Given the description of an element on the screen output the (x, y) to click on. 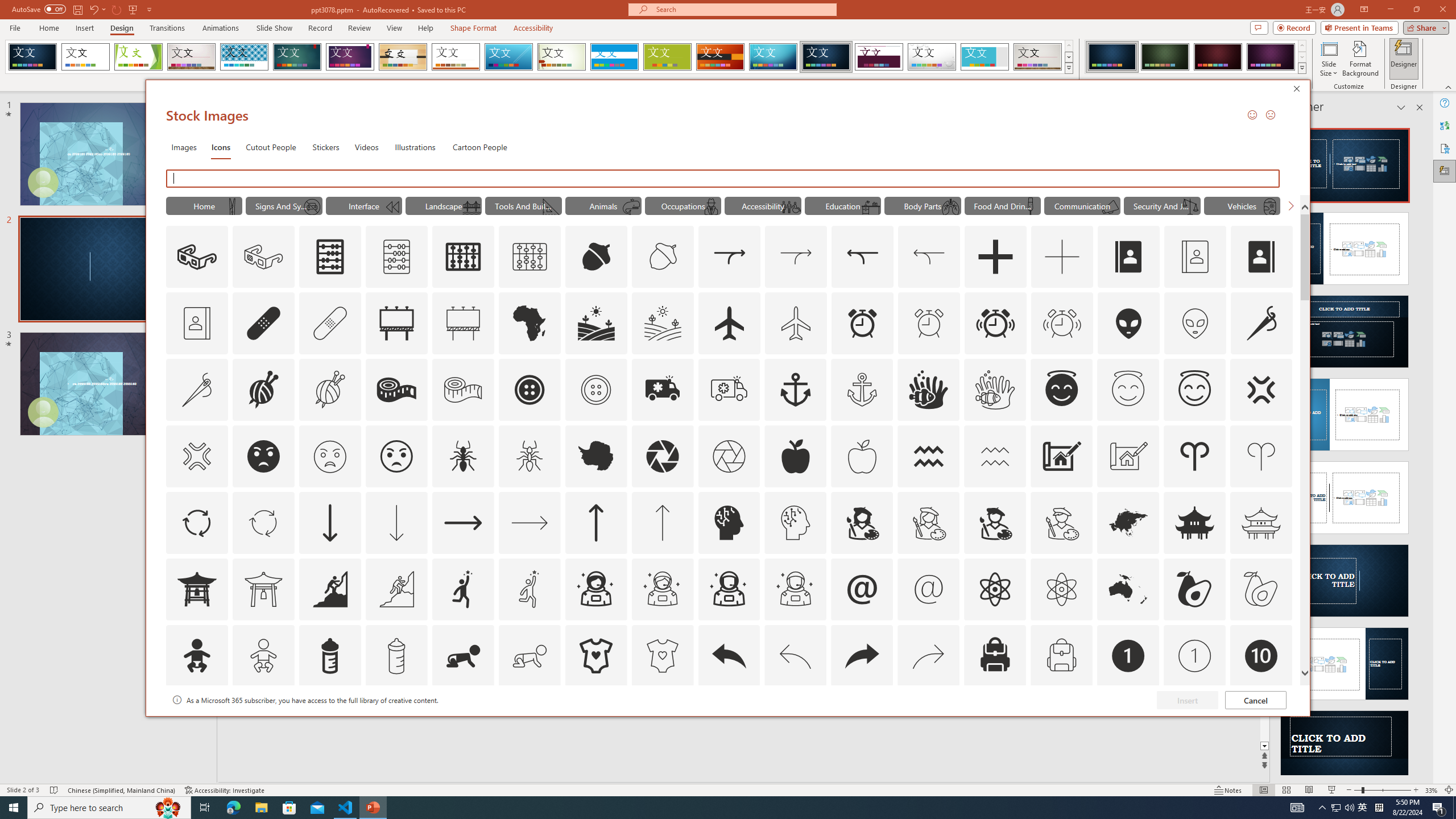
AutomationID: Icons_AngerSymbol_M (196, 455)
AutomationID: Icons_AsianTemple1_M (263, 588)
Office Theme (85, 56)
AutomationID: Icons_Badge8 (1061, 721)
AutomationID: Icons_BabyCrawling_M (529, 655)
AutomationID: Icons_AddressBook_LTR (1128, 256)
AutomationID: Icons_AlarmRinging (995, 323)
AutomationID: Icons_Add_M (1062, 256)
